Given the description of an element on the screen output the (x, y) to click on. 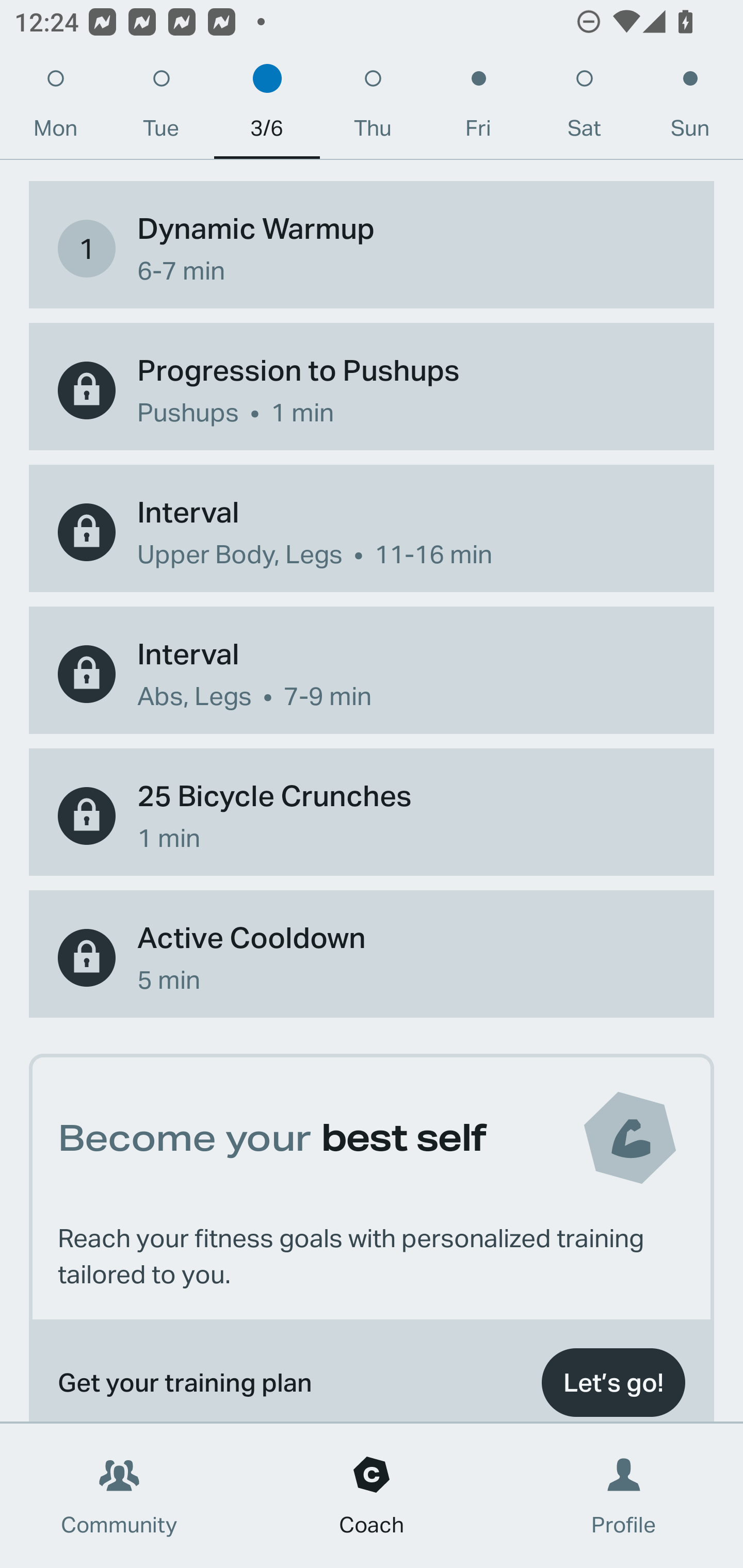
Mon (55, 108)
Tue (160, 108)
3/6 (266, 108)
Thu (372, 108)
Fri (478, 108)
Sat (584, 108)
Sun (690, 108)
1 Dynamic Warmup 6-7 min (371, 248)
Progression to Pushups Pushups  •  1 min (371, 390)
Interval Upper Body, Legs  •  11-16 min (371, 532)
Interval Abs, Legs  •  7-9 min (371, 674)
25 Bicycle Crunches 1 min (371, 816)
Active Cooldown 5 min (371, 957)
Let’s go! (613, 1380)
Community (119, 1495)
Profile (624, 1495)
